Given the description of an element on the screen output the (x, y) to click on. 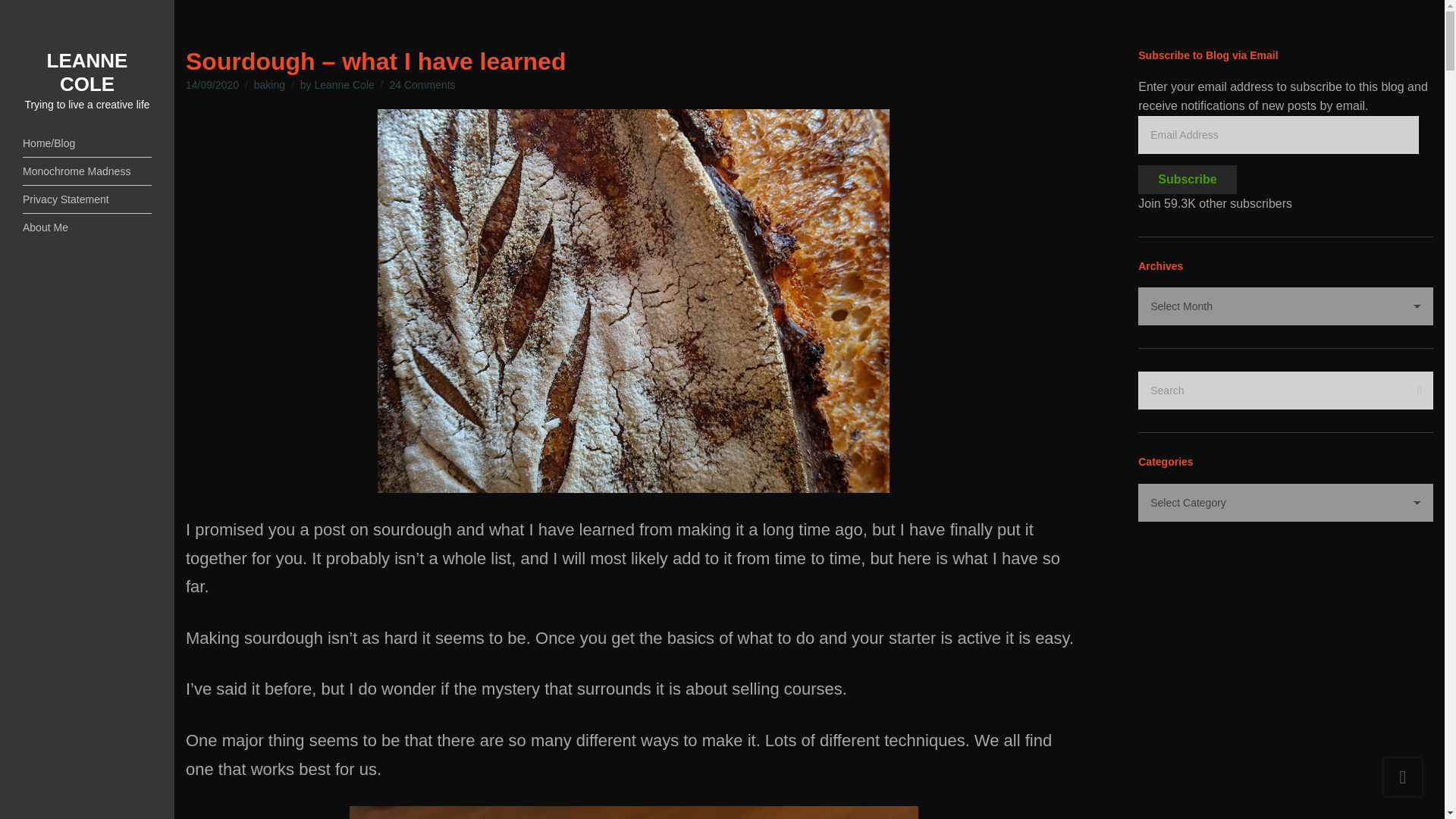
Privacy Statement (87, 199)
baking (269, 84)
About (87, 226)
Monochrome Madness (87, 171)
LEANNE COLE (87, 72)
About Me (87, 226)
Leanne Cole (344, 84)
